Given the description of an element on the screen output the (x, y) to click on. 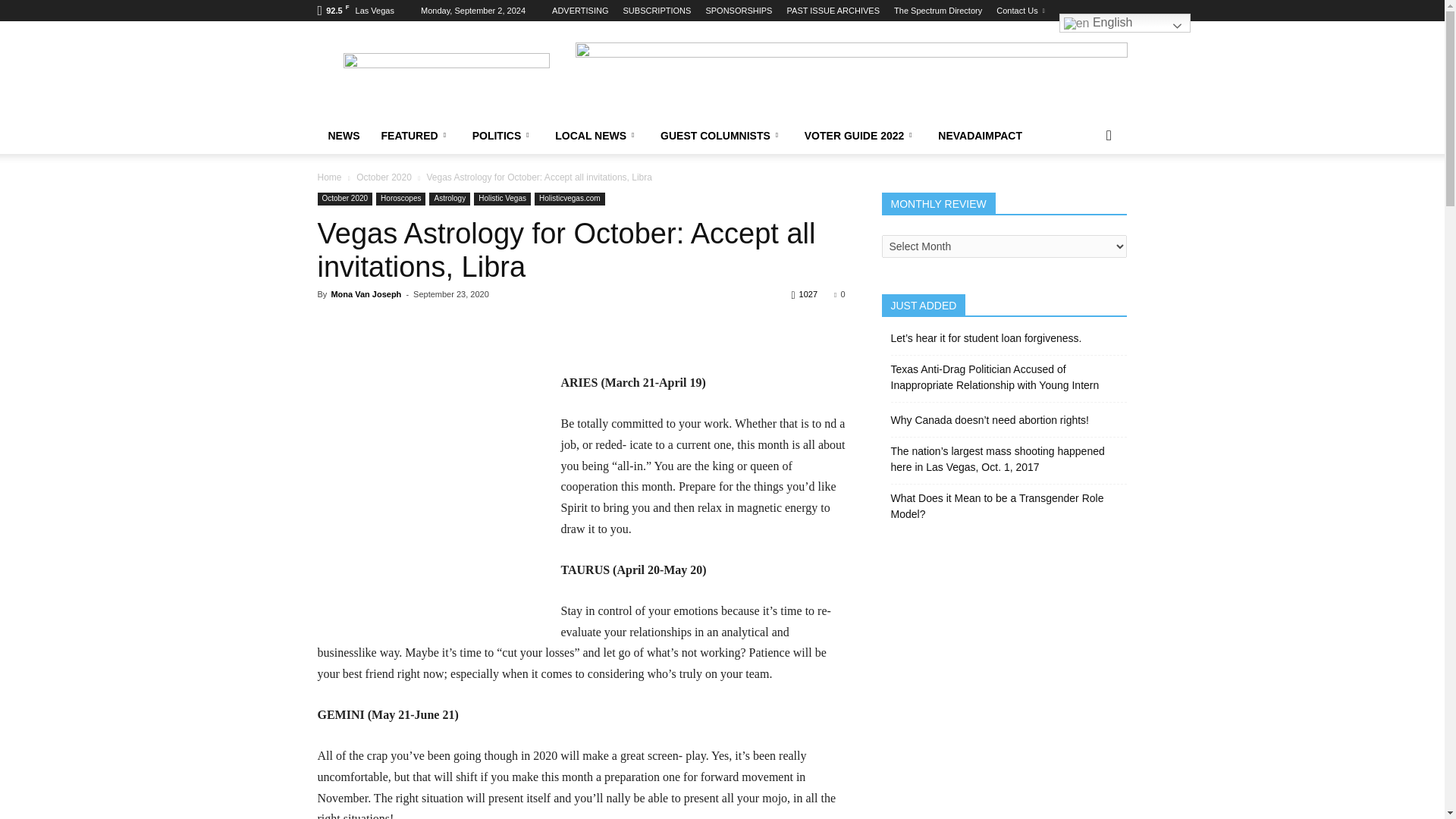
Contact Us (1019, 10)
SPONSORSHIPS (737, 10)
ADVERTISING (579, 10)
SUBSCRIPTIONS (657, 10)
The Spectrum Directory (937, 10)
PAST ISSUE ARCHIVES (833, 10)
